Given the description of an element on the screen output the (x, y) to click on. 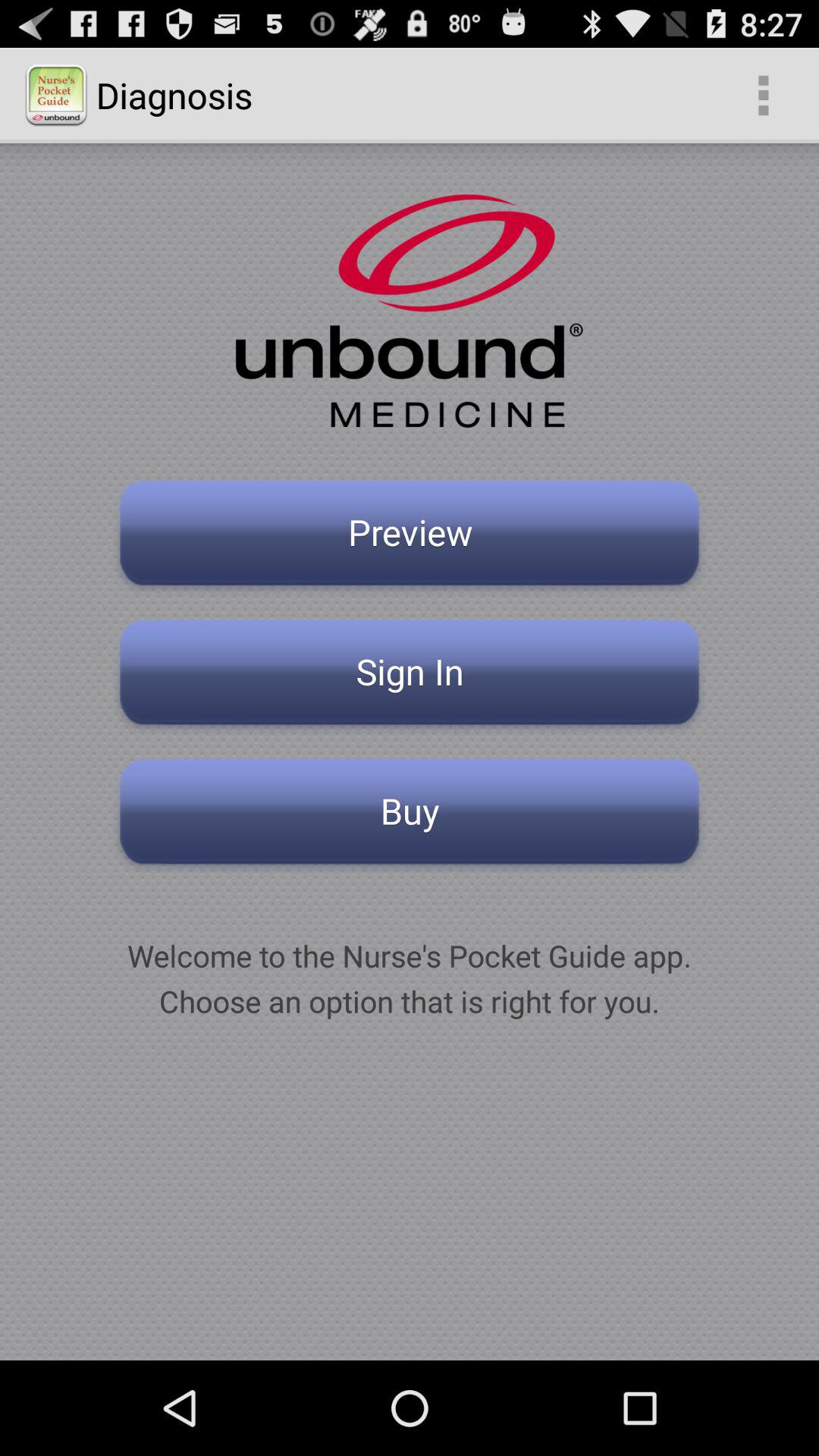
choose item next to diagnosis item (763, 95)
